Given the description of an element on the screen output the (x, y) to click on. 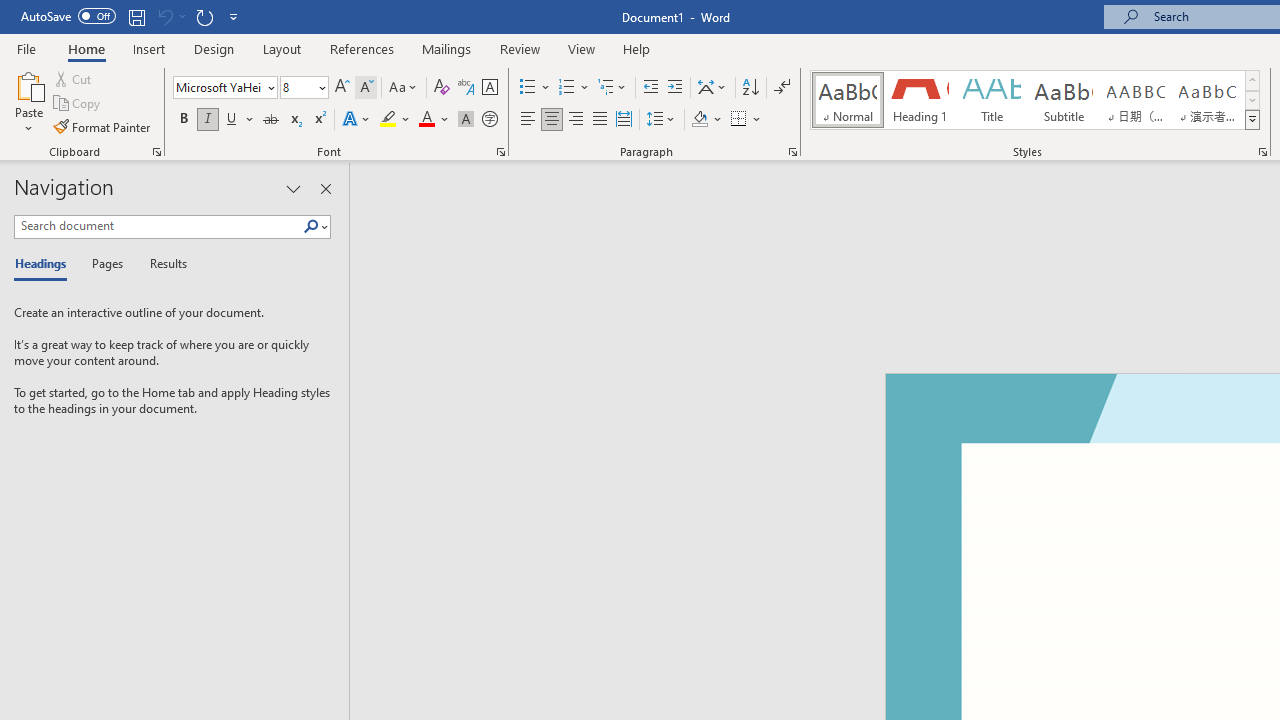
Numbering (566, 87)
Center (552, 119)
Underline (232, 119)
Search (311, 227)
Title (991, 100)
Design (214, 48)
AutomationID: QuickStylesGallery (1035, 99)
Font Size (297, 87)
Shading (706, 119)
Paste (28, 84)
Borders (746, 119)
Font Color Red (426, 119)
Repeat Shrink Font (204, 15)
Borders (739, 119)
